Given the description of an element on the screen output the (x, y) to click on. 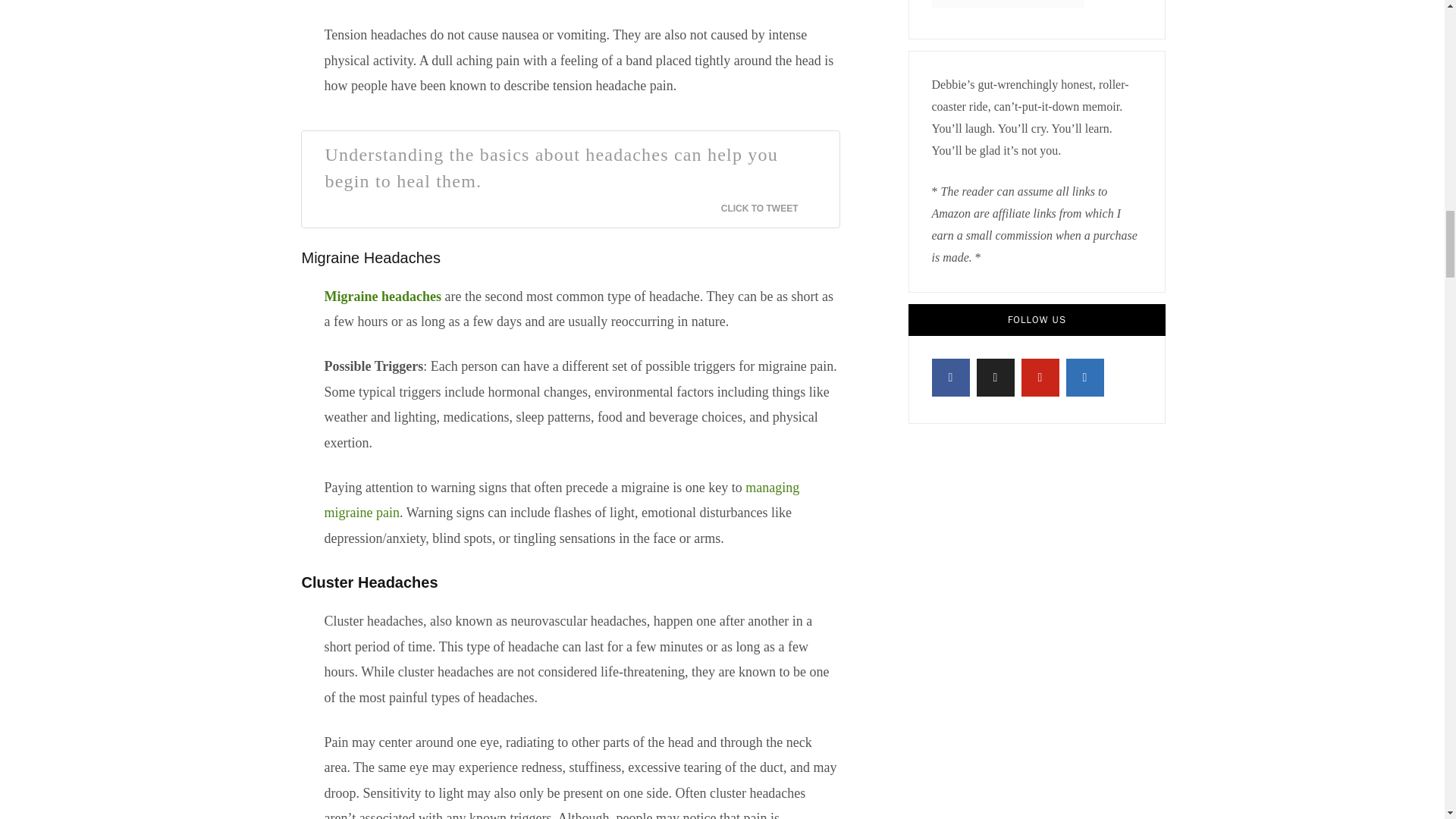
Linkedin (1084, 377)
Facebook (950, 377)
Pinterest (1039, 377)
